Given the description of an element on the screen output the (x, y) to click on. 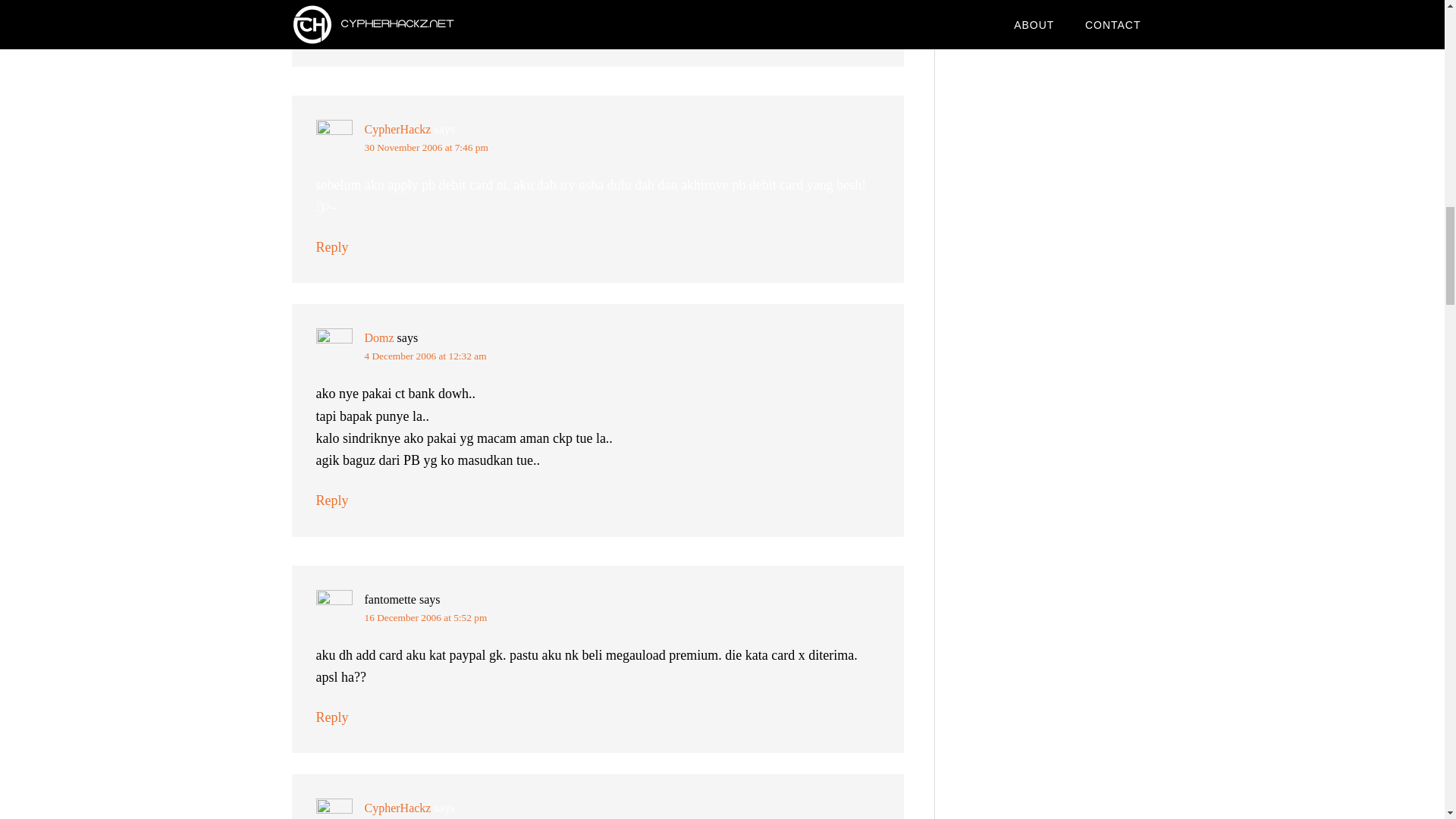
Reply (331, 246)
Reply (331, 29)
Reply (331, 717)
4 December 2006 at 12:32 am (425, 355)
Domz (378, 337)
Reply (331, 500)
30 November 2006 at 7:46 pm (425, 147)
16 December 2006 at 5:52 pm (425, 617)
CypherHackz (397, 128)
CypherHackz (397, 807)
